Given the description of an element on the screen output the (x, y) to click on. 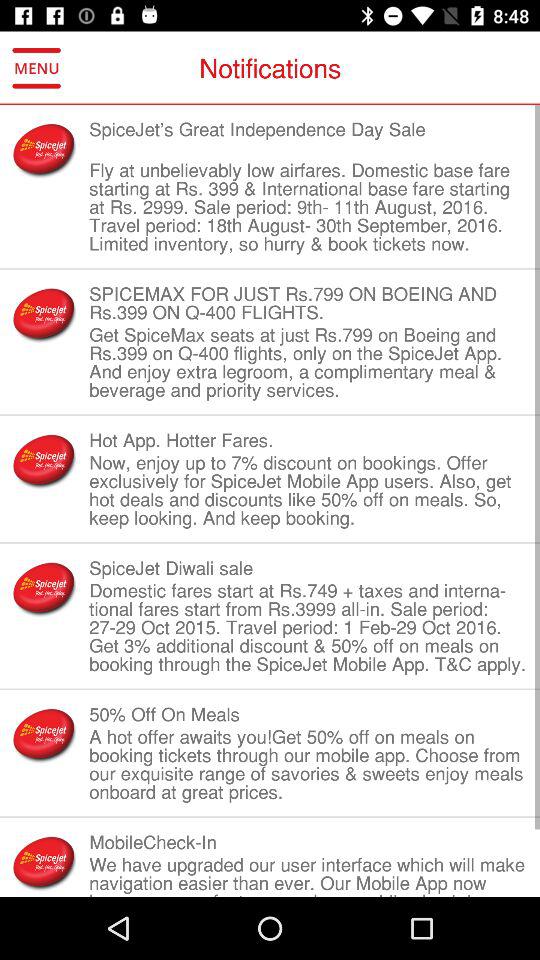
click the item to the left of the 50 off on icon (44, 734)
